Given the description of an element on the screen output the (x, y) to click on. 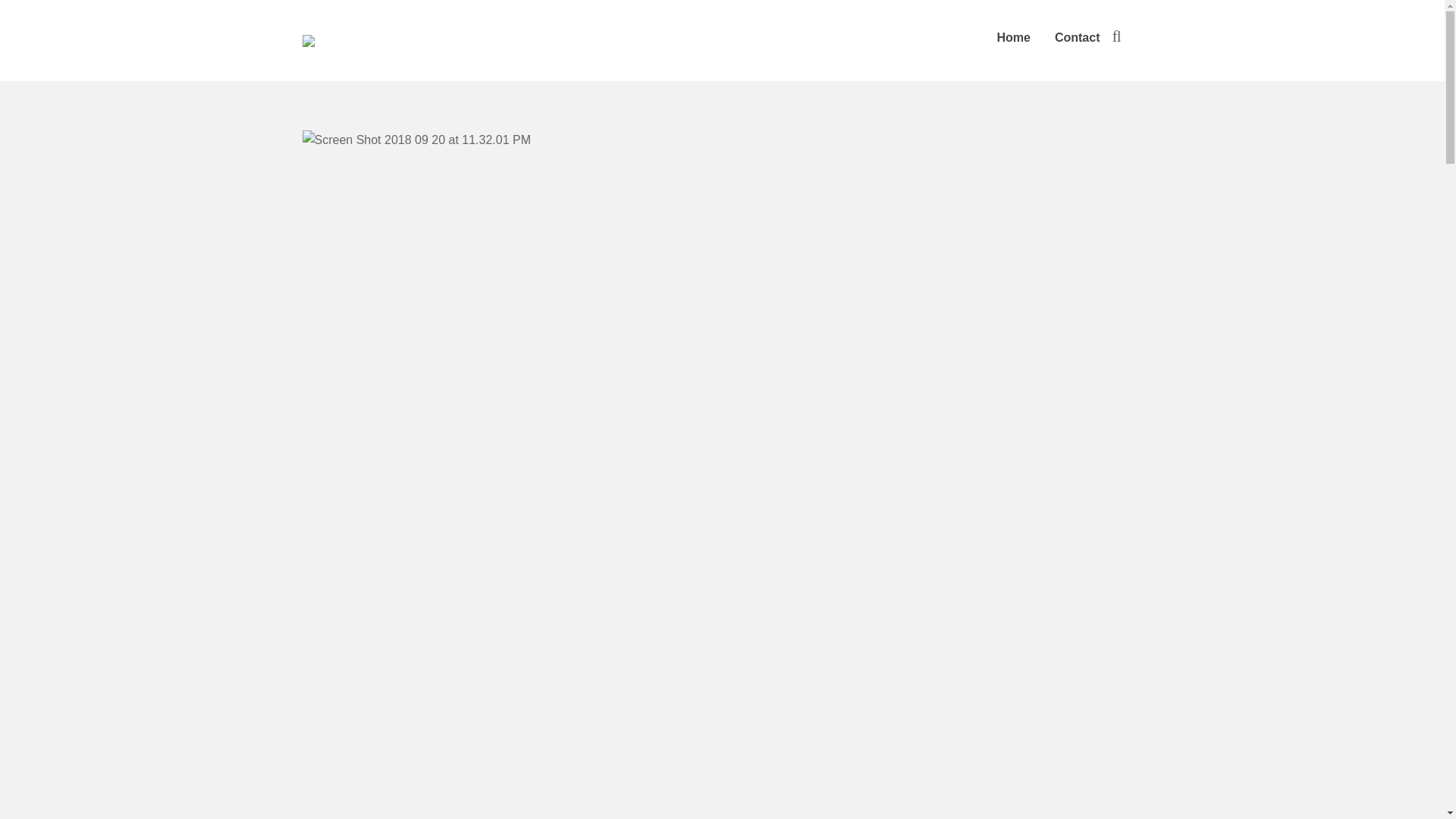
Contact (1077, 37)
Home (1013, 37)
